Given the description of an element on the screen output the (x, y) to click on. 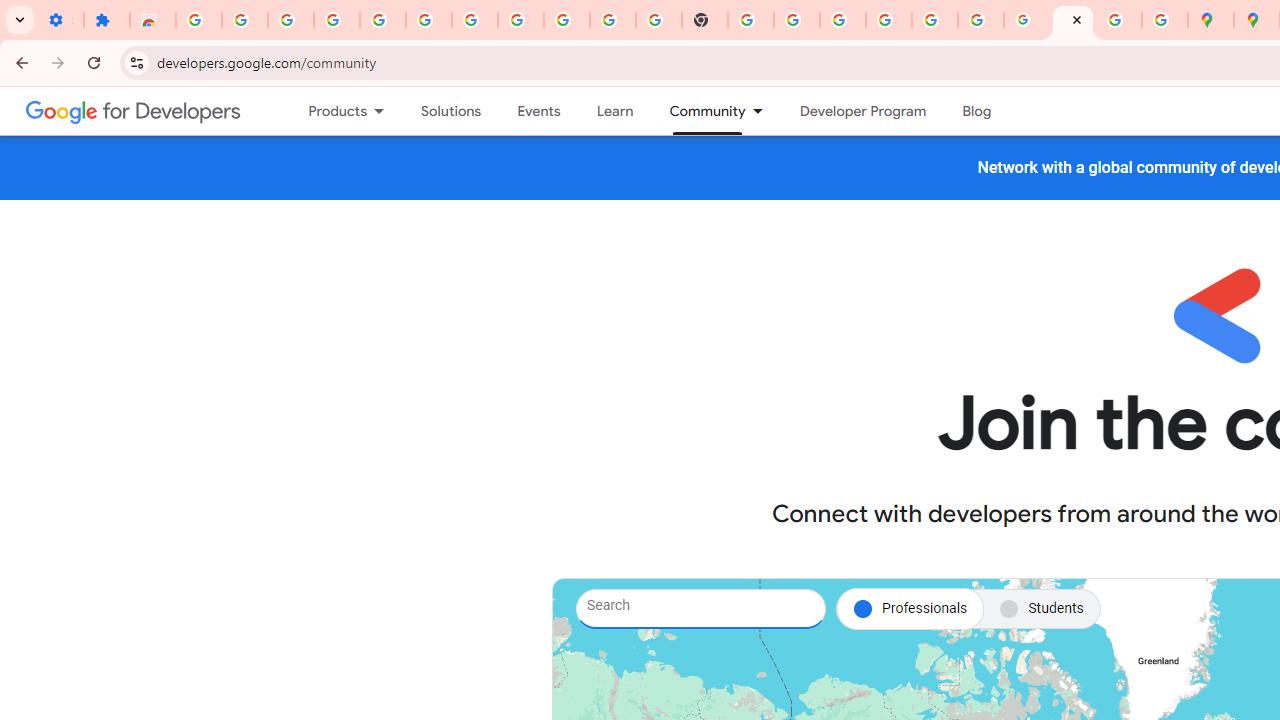
Google for Developers (133, 110)
Extensions (107, 20)
Dropdown menu for Community (763, 111)
Reviews: Helix Fruit Jump Arcade Game (153, 20)
Developer Program (862, 111)
Delete photos & videos - Computer - Google Photos Help (336, 20)
Sign in - Google Accounts (889, 20)
https://scholar.google.com/ (751, 20)
